Given the description of an element on the screen output the (x, y) to click on. 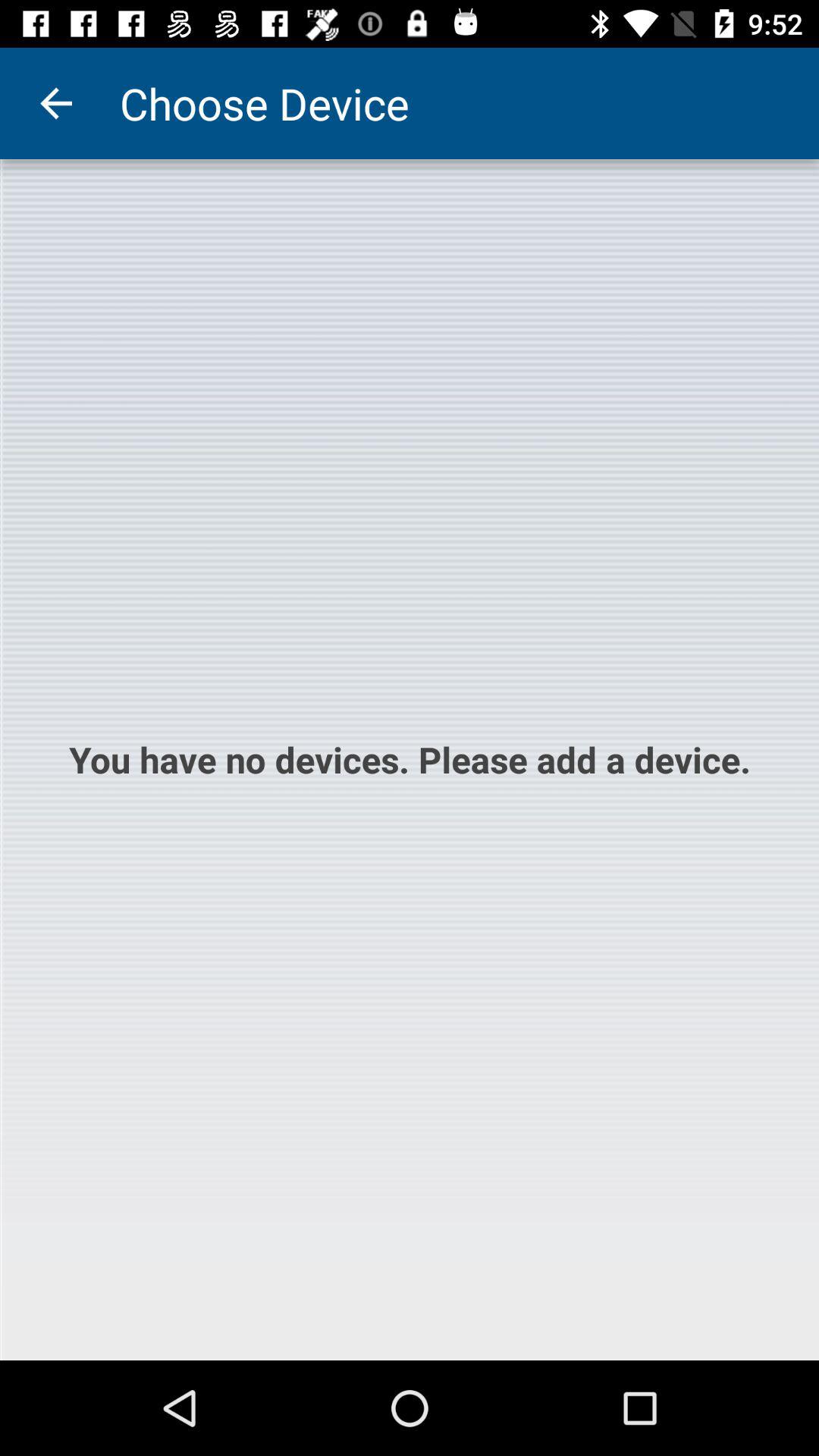
choose the item to the left of the choose device item (55, 103)
